Given the description of an element on the screen output the (x, y) to click on. 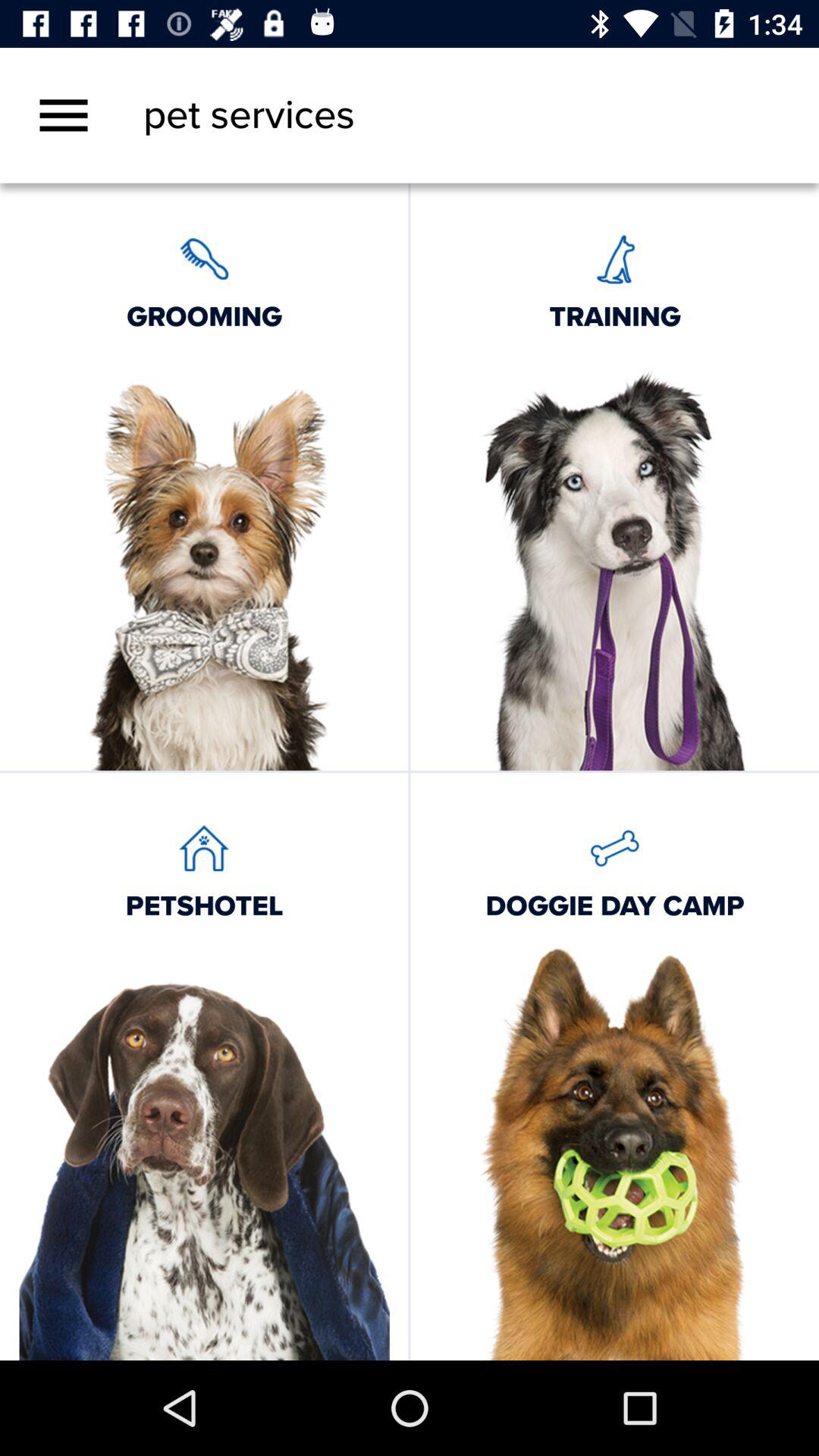
launch item to the left of pet services (63, 115)
